Given the description of an element on the screen output the (x, y) to click on. 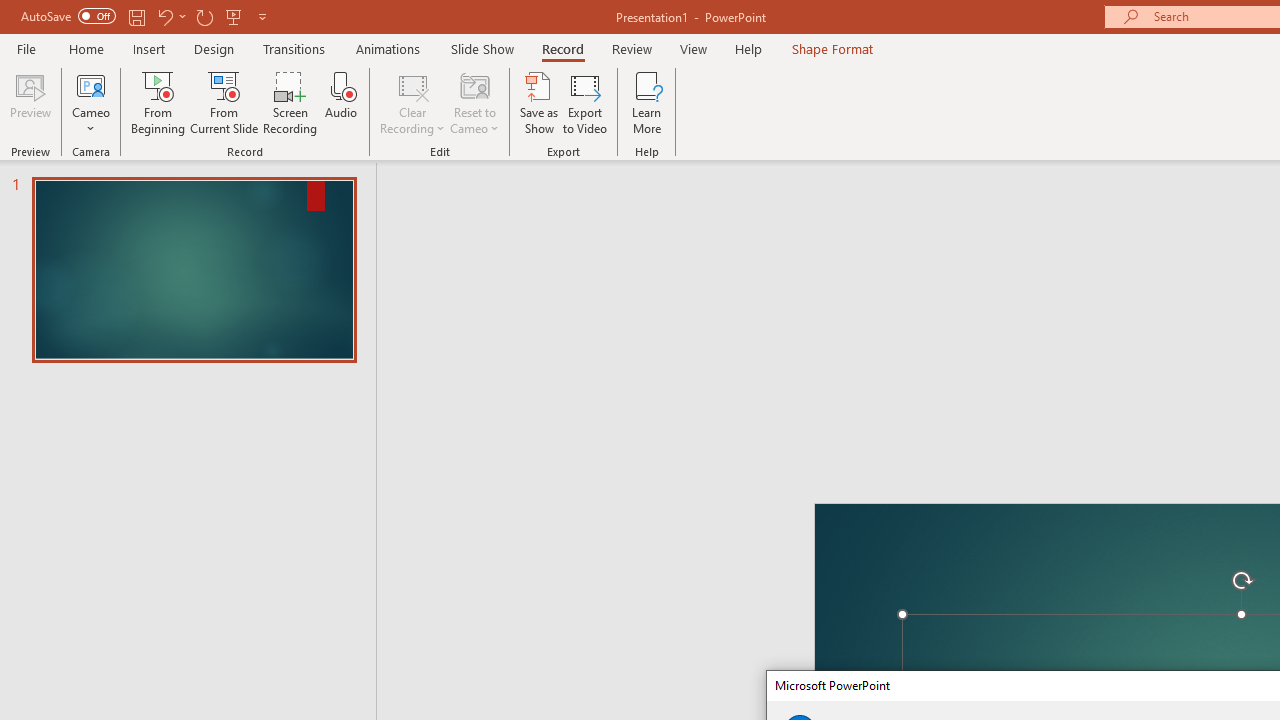
Audio (341, 102)
Animations (388, 48)
View (693, 48)
Transitions (294, 48)
Redo (204, 15)
From Beginning (234, 15)
AutoSave (68, 16)
Insert (149, 48)
Save (136, 15)
From Beginning... (158, 102)
Shape Format (832, 48)
